Given the description of an element on the screen output the (x, y) to click on. 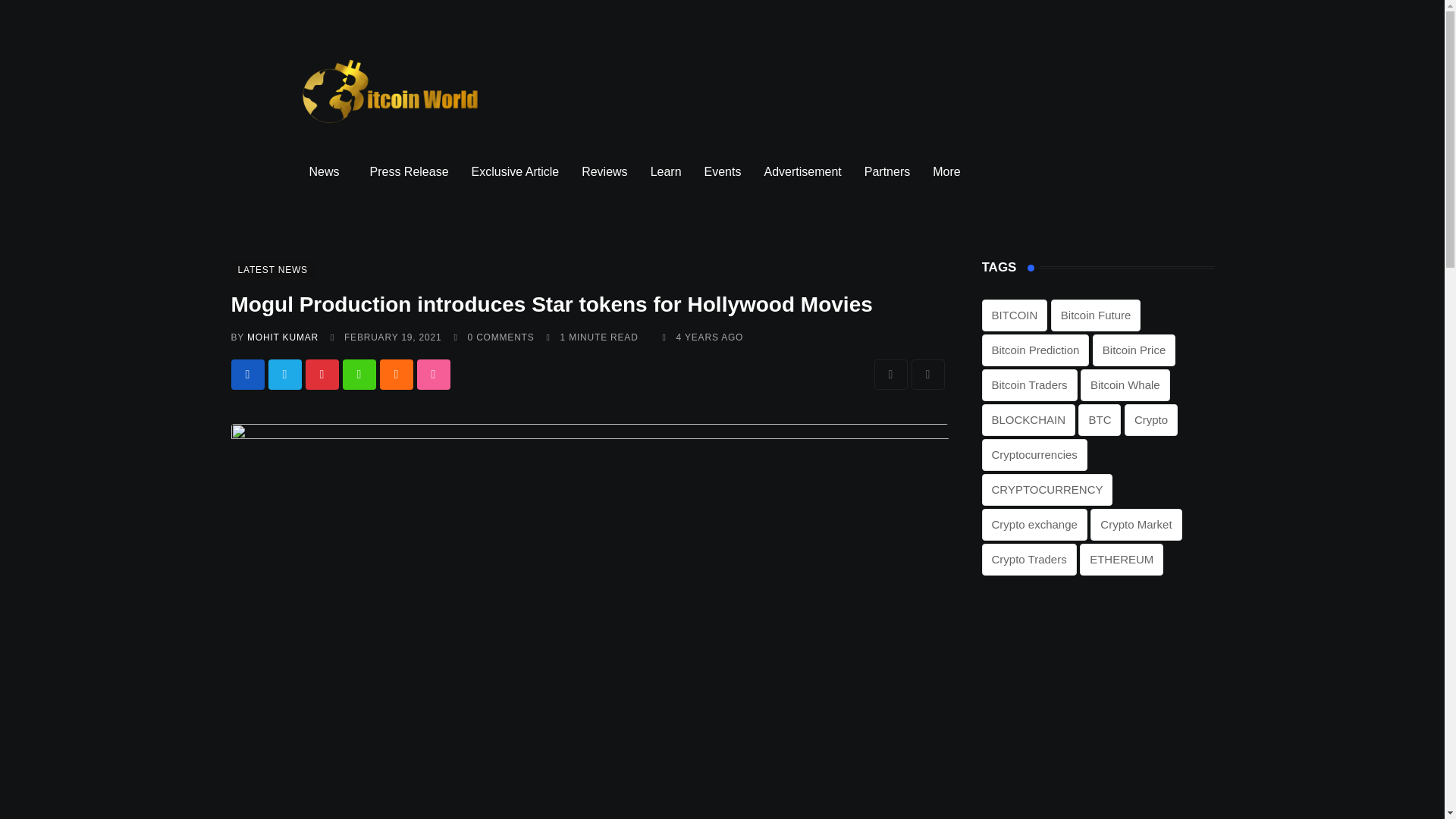
LATEST NEWS (272, 268)
Learn (666, 171)
Exclusive Article (515, 171)
Posts by Mohit Kumar (282, 337)
Advertisement (801, 171)
MOHIT KUMAR (282, 337)
News (327, 171)
Events (722, 171)
Partners (887, 171)
More (949, 171)
